Given the description of an element on the screen output the (x, y) to click on. 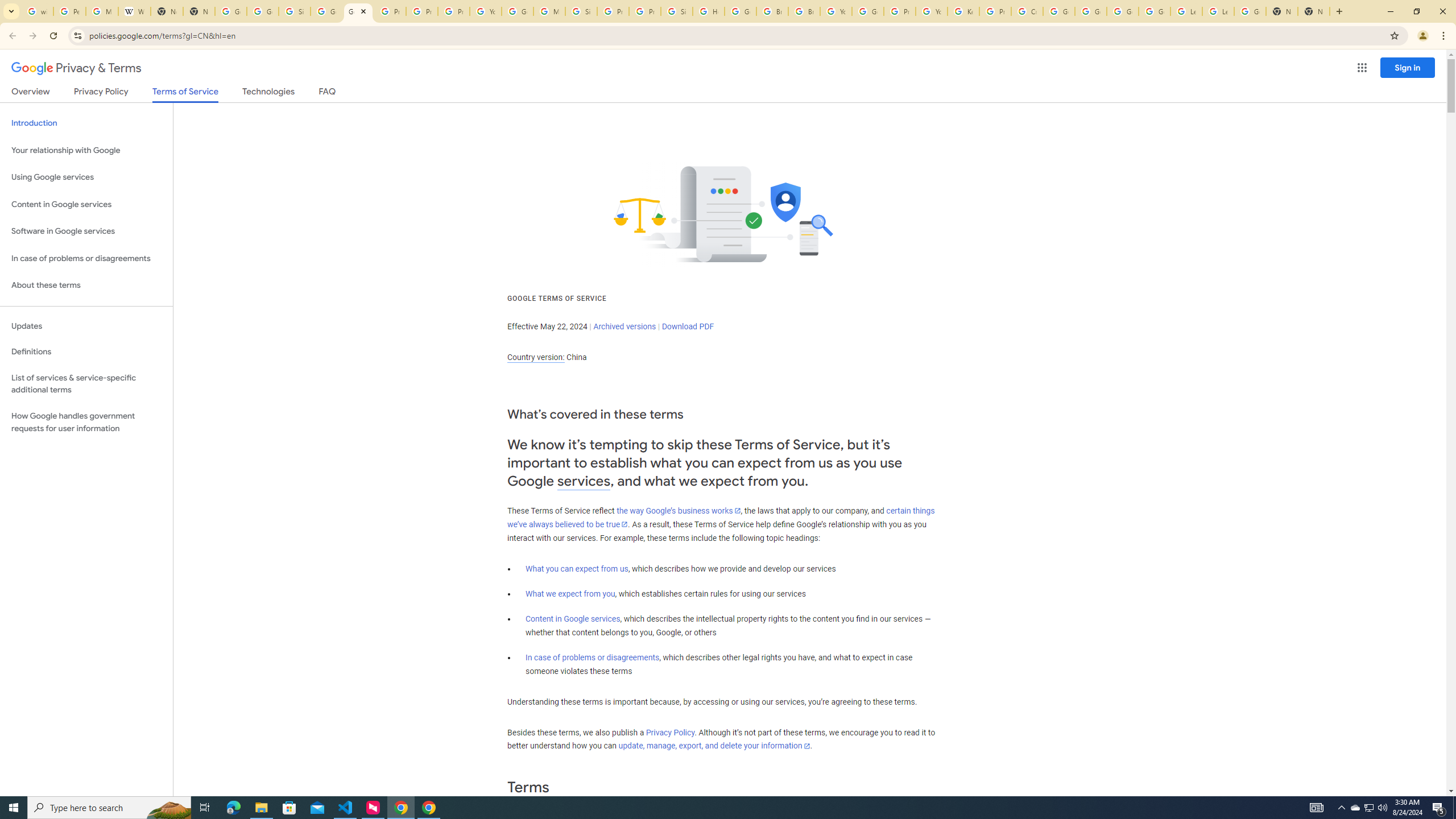
New Tab (1281, 11)
Sign in - Google Accounts (676, 11)
Software in Google services (86, 230)
update, manage, export, and delete your information (714, 746)
